Given the description of an element on the screen output the (x, y) to click on. 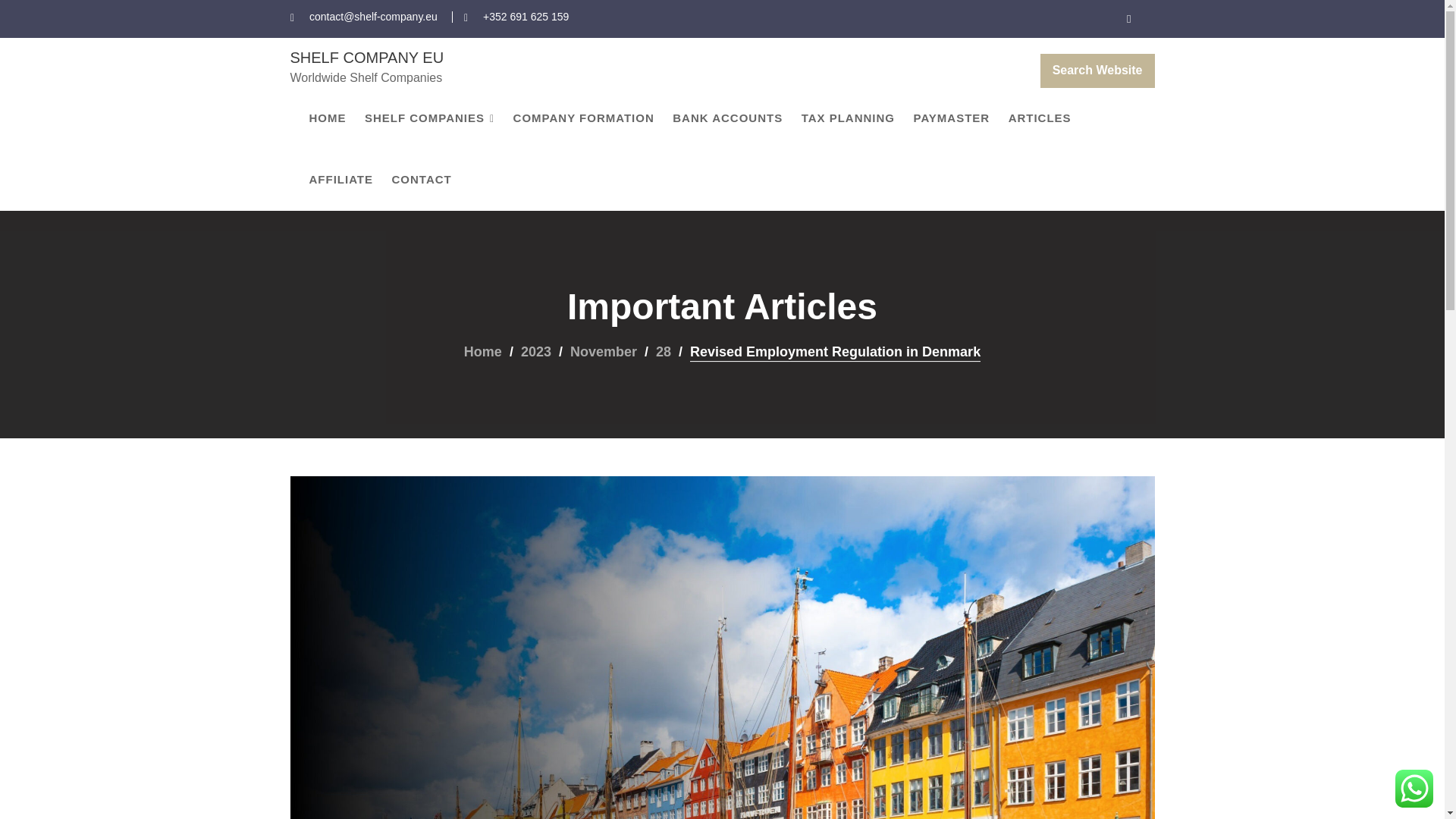
Home (483, 352)
BANK ACCOUNTS (727, 117)
2023 (536, 352)
November (603, 352)
SHELF COMPANIES (429, 118)
ARTICLES (1039, 117)
SHELF COMPANY EU (366, 57)
Shelf Company EU (366, 57)
CONTACT (421, 179)
TAX PLANNING (847, 117)
PAYMASTER (951, 117)
Search Website (1097, 70)
COMPANY FORMATION (583, 117)
AFFILIATE (341, 179)
